Given the description of an element on the screen output the (x, y) to click on. 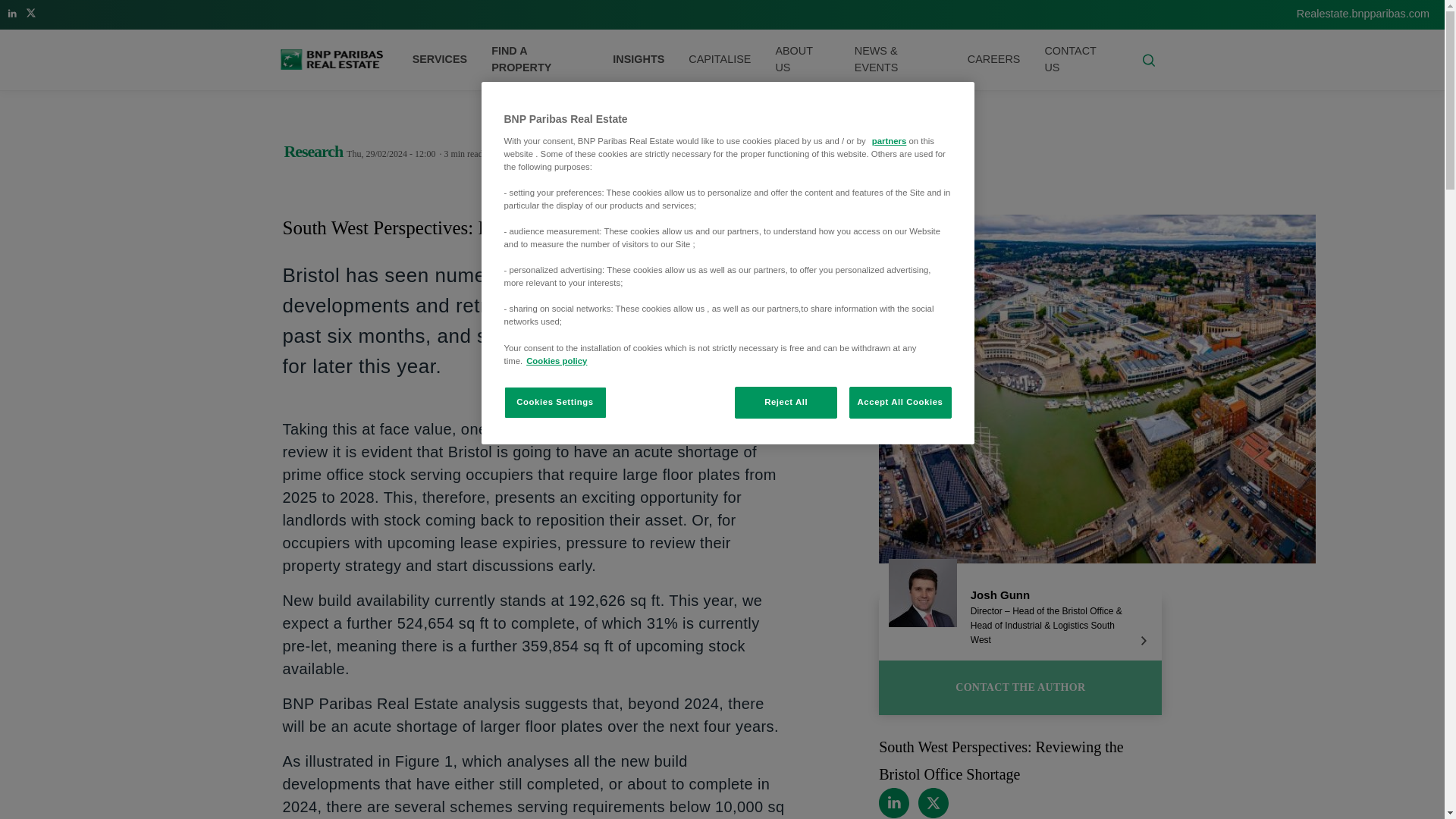
Realestate.bnpparibas.com (1363, 13)
Twitter (31, 11)
LinkedIn (12, 11)
